Given the description of an element on the screen output the (x, y) to click on. 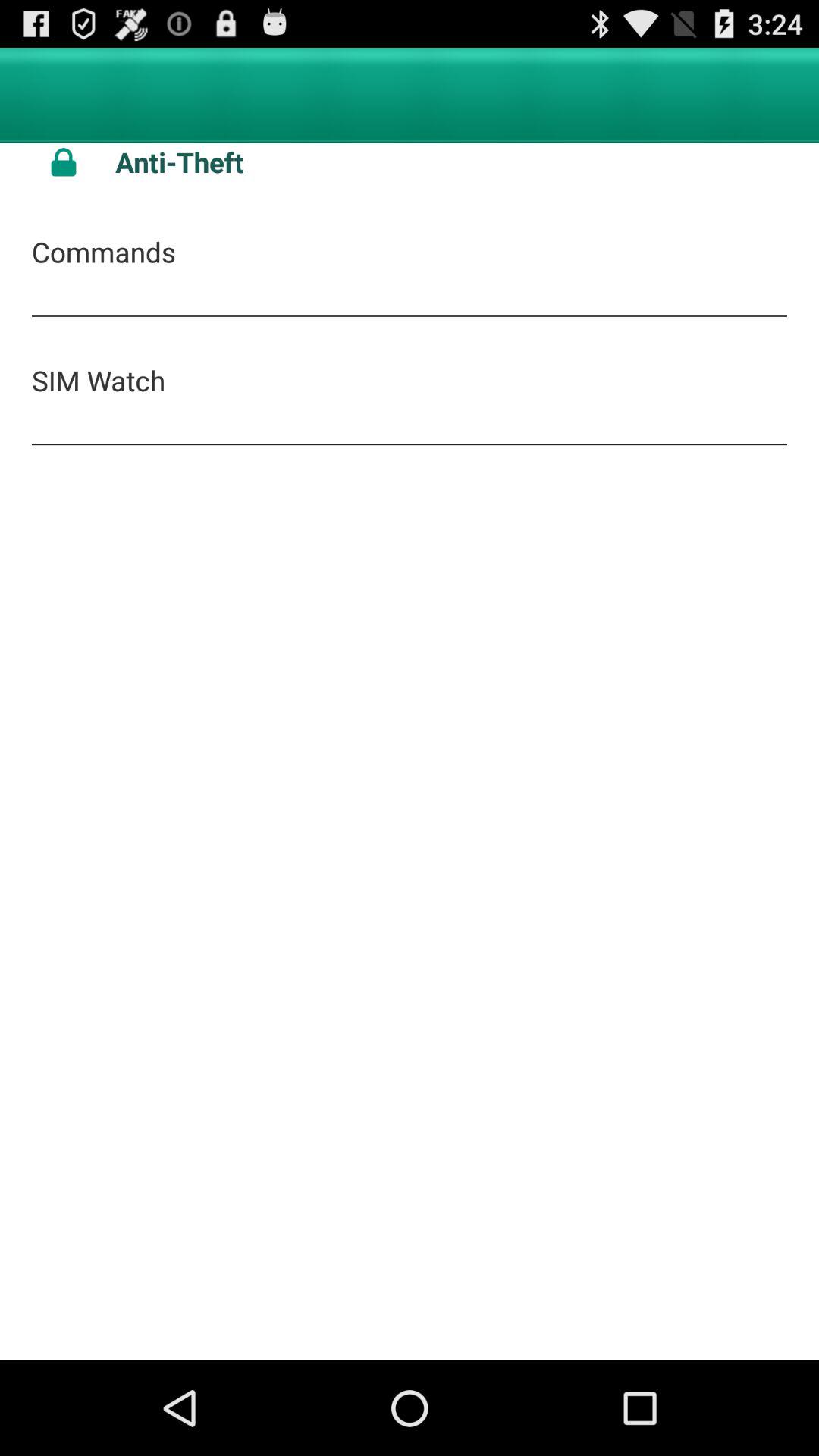
press commands app (103, 251)
